Given the description of an element on the screen output the (x, y) to click on. 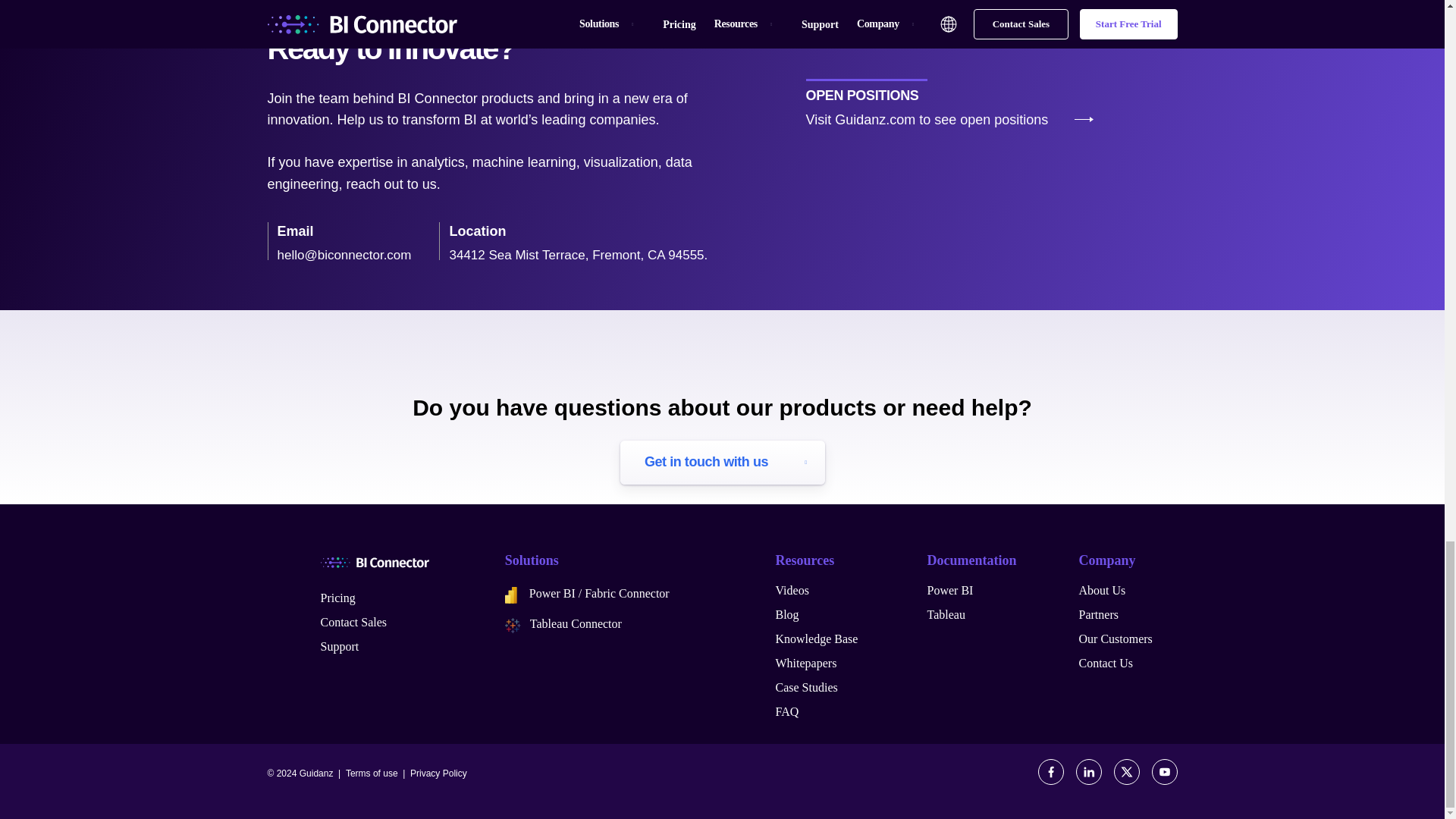
Contact Sales (353, 621)
Support (339, 645)
Knowledge Base (815, 638)
Pricing (337, 597)
Whitepapers (804, 662)
Tableau Connector (563, 623)
Videos (791, 590)
Get in touch with us (722, 462)
Visit Guidanz.com to see open positions (926, 119)
Case Studies (805, 686)
